Given the description of an element on the screen output the (x, y) to click on. 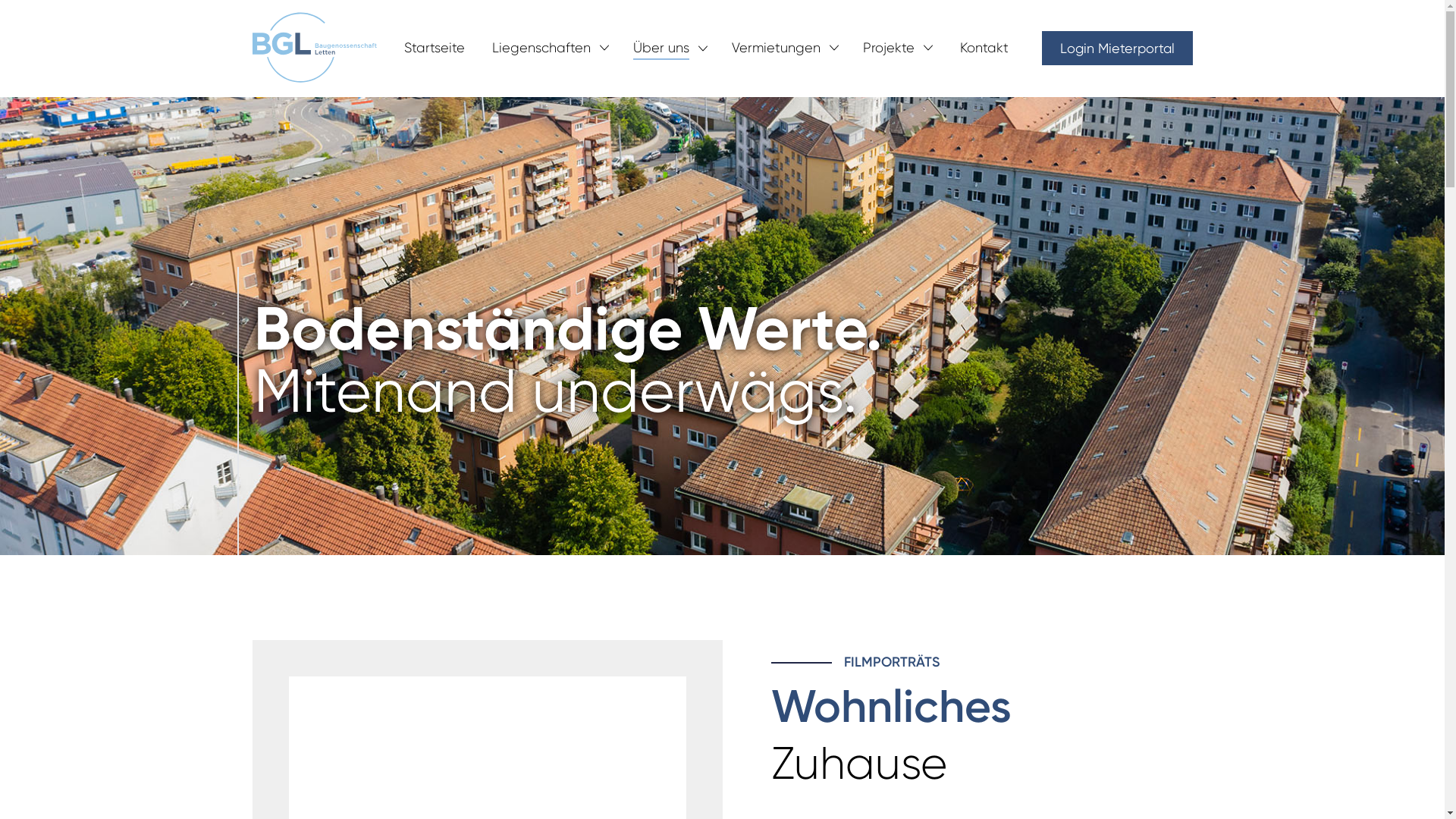
Kontakt Element type: text (984, 46)
Login Mieterportal Element type: text (1116, 47)
Projekte Element type: text (888, 47)
Liegenschaften Element type: text (540, 47)
Vermietungen Element type: text (775, 47)
Startseite Element type: text (433, 46)
